Given the description of an element on the screen output the (x, y) to click on. 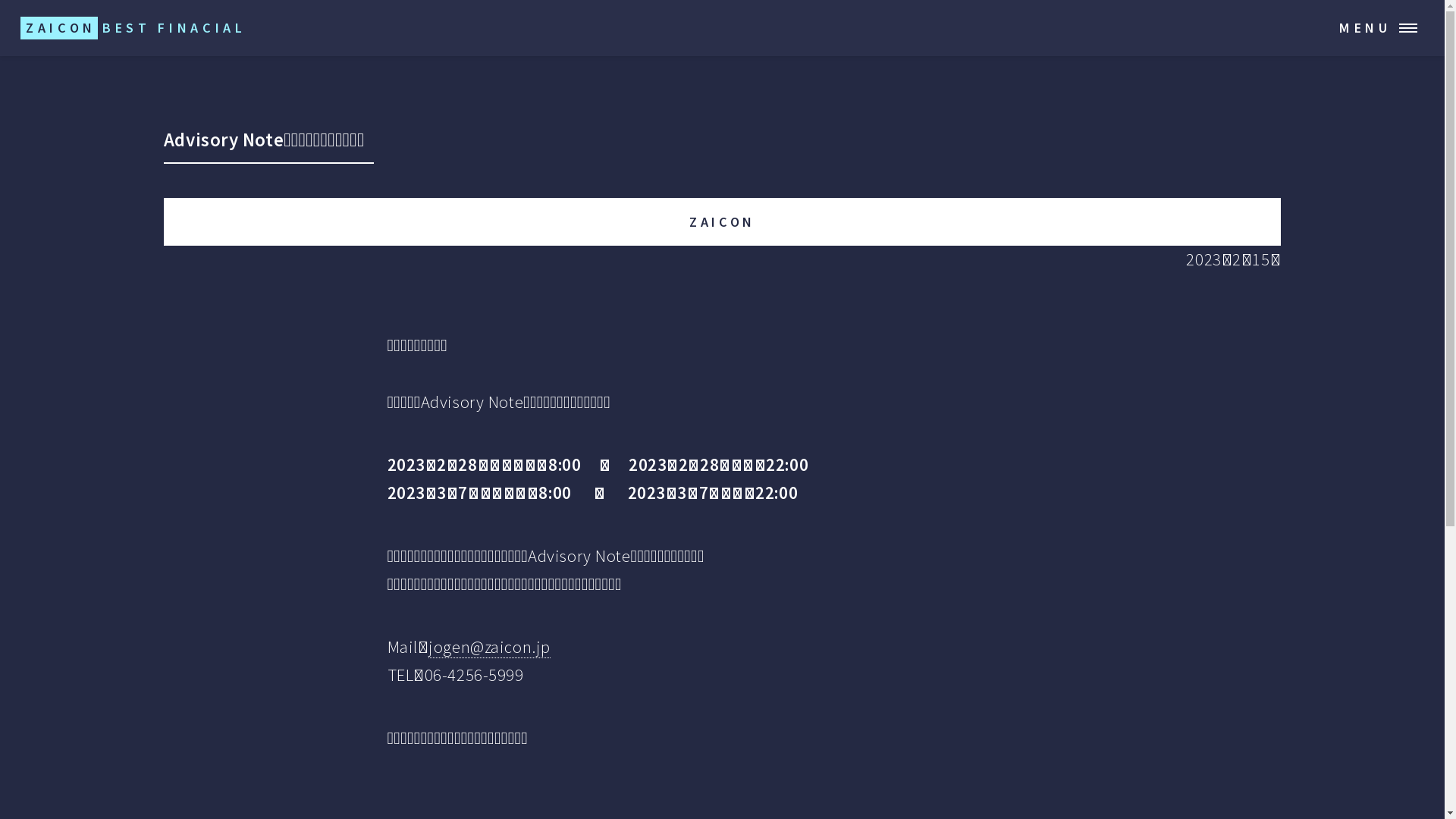
ZAICON Element type: text (721, 221)
jogen@zaicon.jp Element type: text (489, 647)
MENU Element type: text (1386, 28)
ZAICONBEST FINACIAL Element type: text (133, 28)
